Given the description of an element on the screen output the (x, y) to click on. 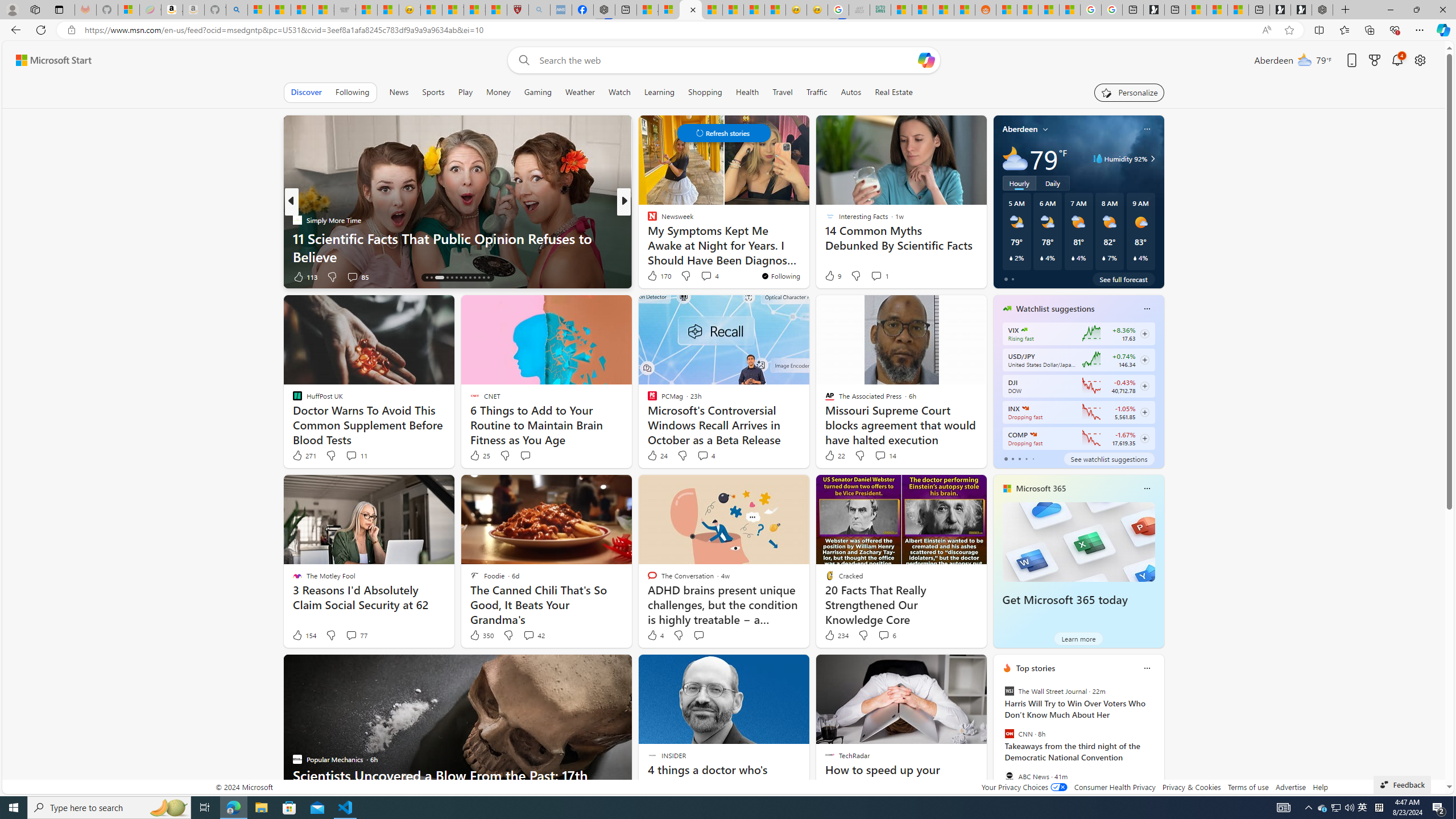
113 Like (304, 276)
4 Like (655, 634)
Mostly cloudy (1014, 158)
Get Microsoft 365 today (1064, 600)
View comments 4 Comment (705, 455)
Your Privacy Choices (1024, 786)
636 Like (654, 276)
